Given the description of an element on the screen output the (x, y) to click on. 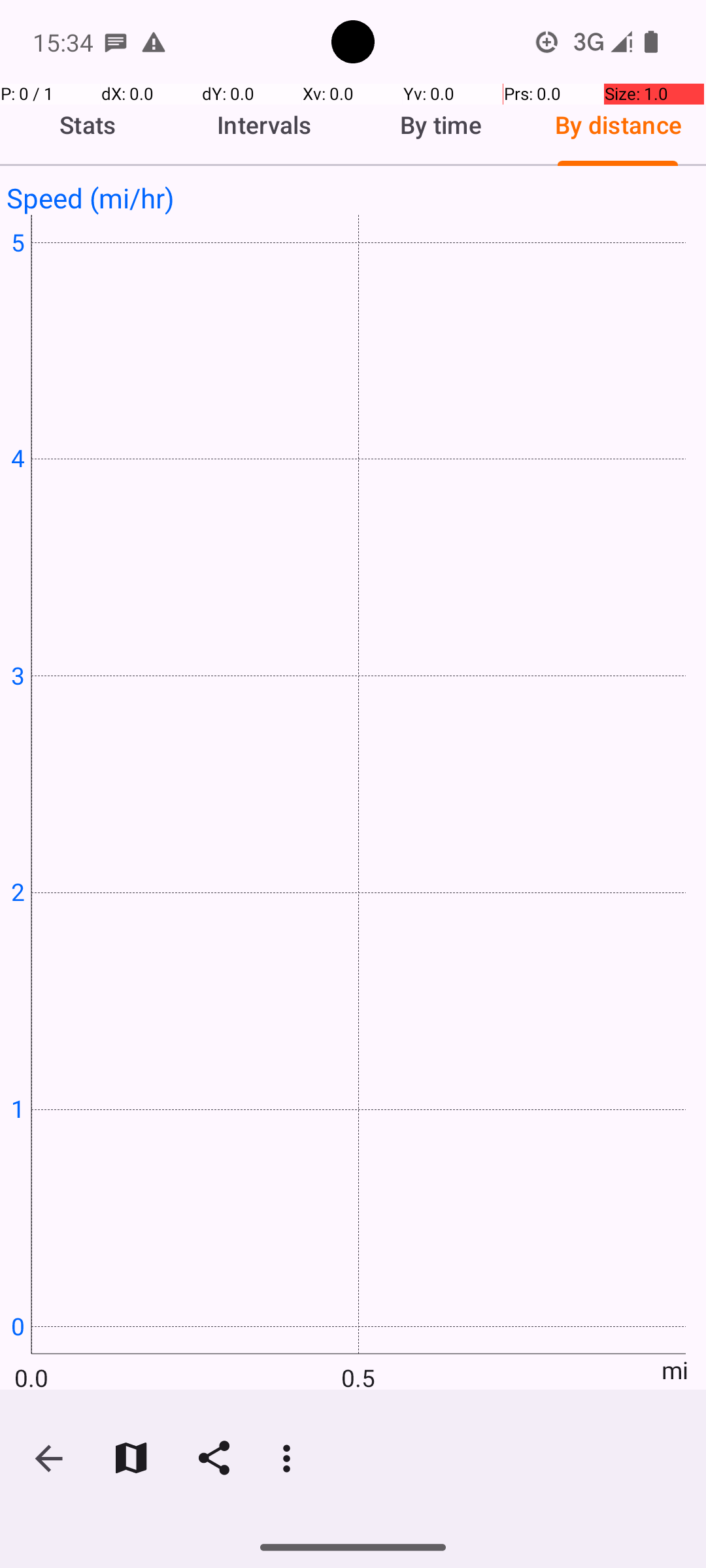
Stats Element type: android.widget.LinearLayout (88, 124)
Intervals Element type: android.widget.LinearLayout (264, 124)
By time Element type: android.widget.LinearLayout (441, 124)
By distance Element type: android.widget.LinearLayout (617, 124)
Show on map Element type: android.widget.Button (130, 1458)
